Given the description of an element on the screen output the (x, y) to click on. 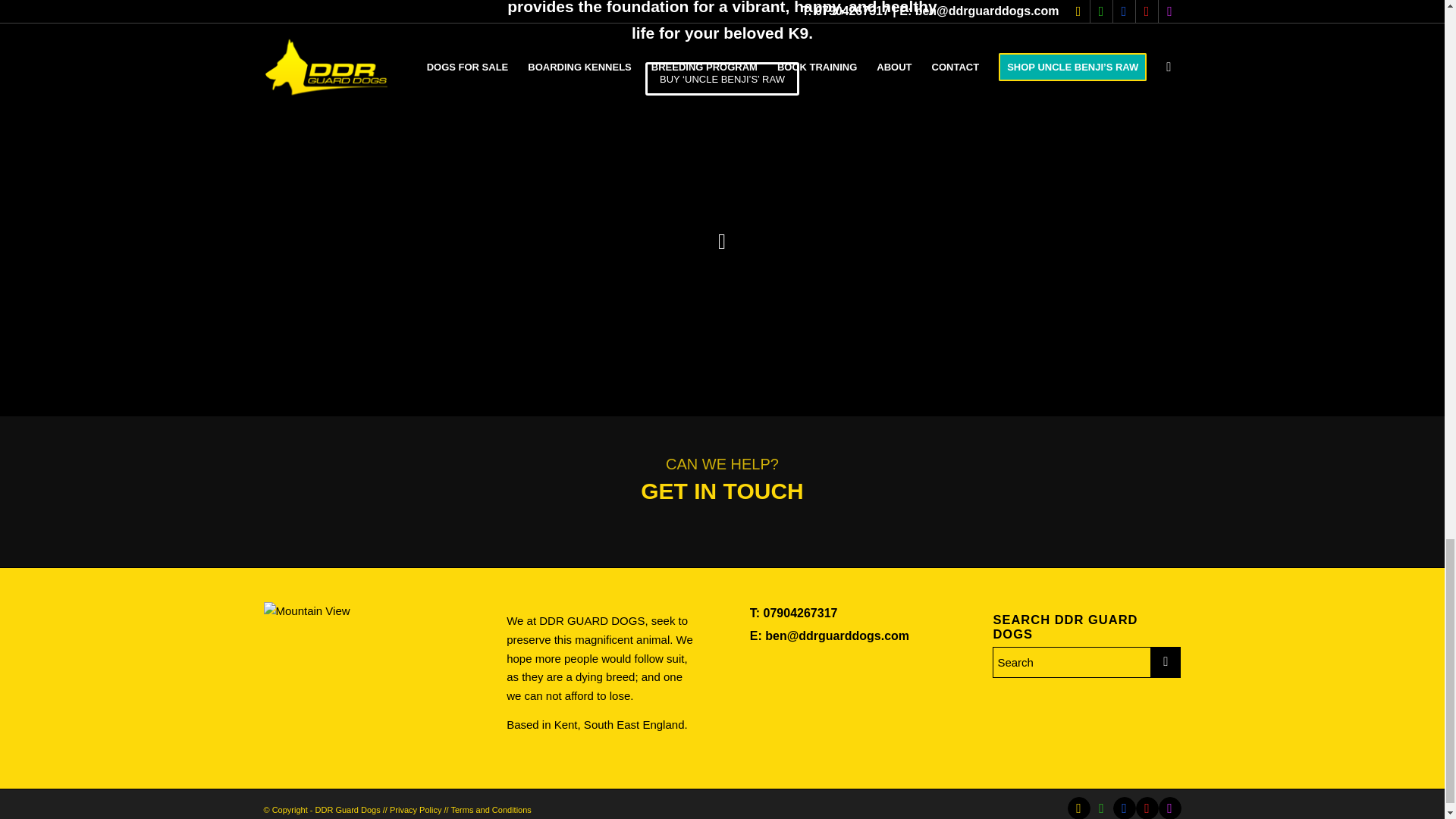
Mail (1078, 807)
Facebook (1124, 807)
WhatsApp (1101, 807)
